Given the description of an element on the screen output the (x, y) to click on. 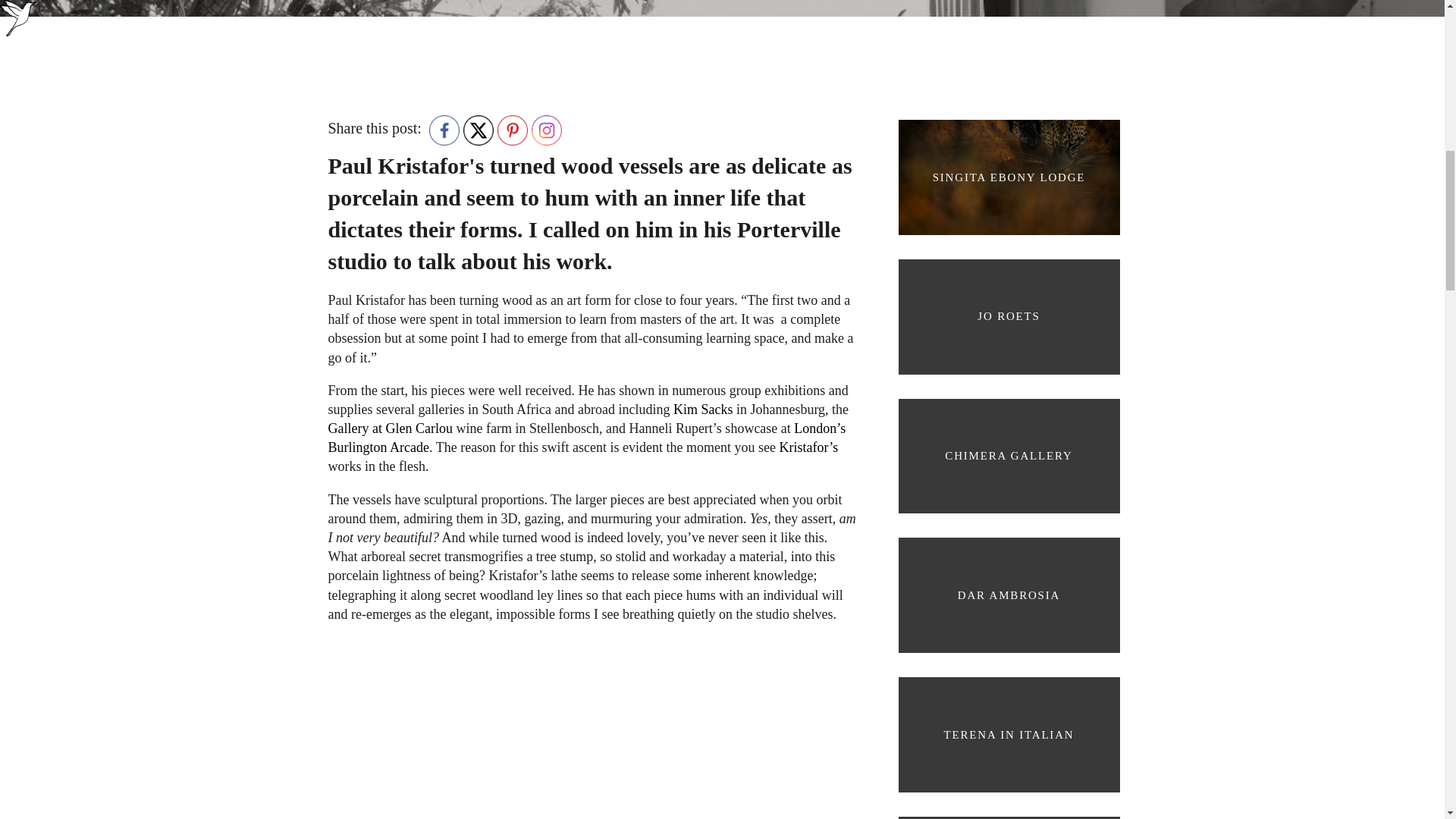
JO ROETS (1008, 316)
TERENA IN ITALIAN (1008, 734)
DAR AMBROSIA (1008, 595)
Instagram (546, 130)
SINGITA EBONY LODGE (1008, 177)
Twitter (478, 130)
SUSSURRO (1008, 811)
CHIMERA GALLERY (1008, 456)
Facebook (444, 130)
Kim Sacks (700, 409)
Gallery at Glen Carlou (389, 427)
Pinterest (512, 130)
